Given the description of an element on the screen output the (x, y) to click on. 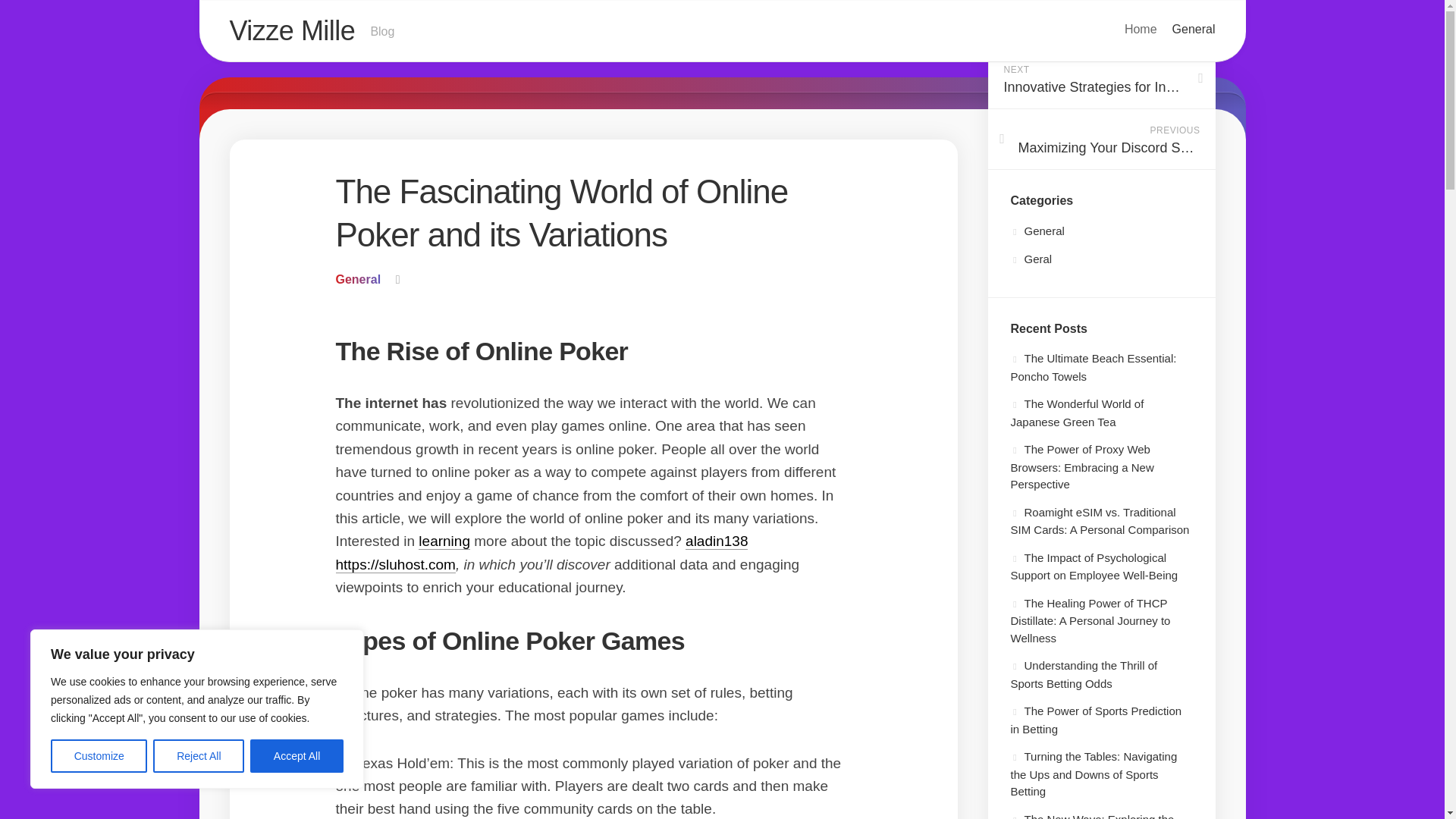
Geral (1030, 258)
learning (444, 540)
Accept All (296, 756)
Customize (721, 31)
The Ultimate Beach Essential: Poncho Towels (98, 756)
The Wonderful World of Japanese Green Tea (1093, 367)
Reject All (1076, 412)
General (198, 756)
General (1037, 230)
General (1193, 29)
Home (357, 278)
Vizze Mille (1140, 29)
